Given the description of an element on the screen output the (x, y) to click on. 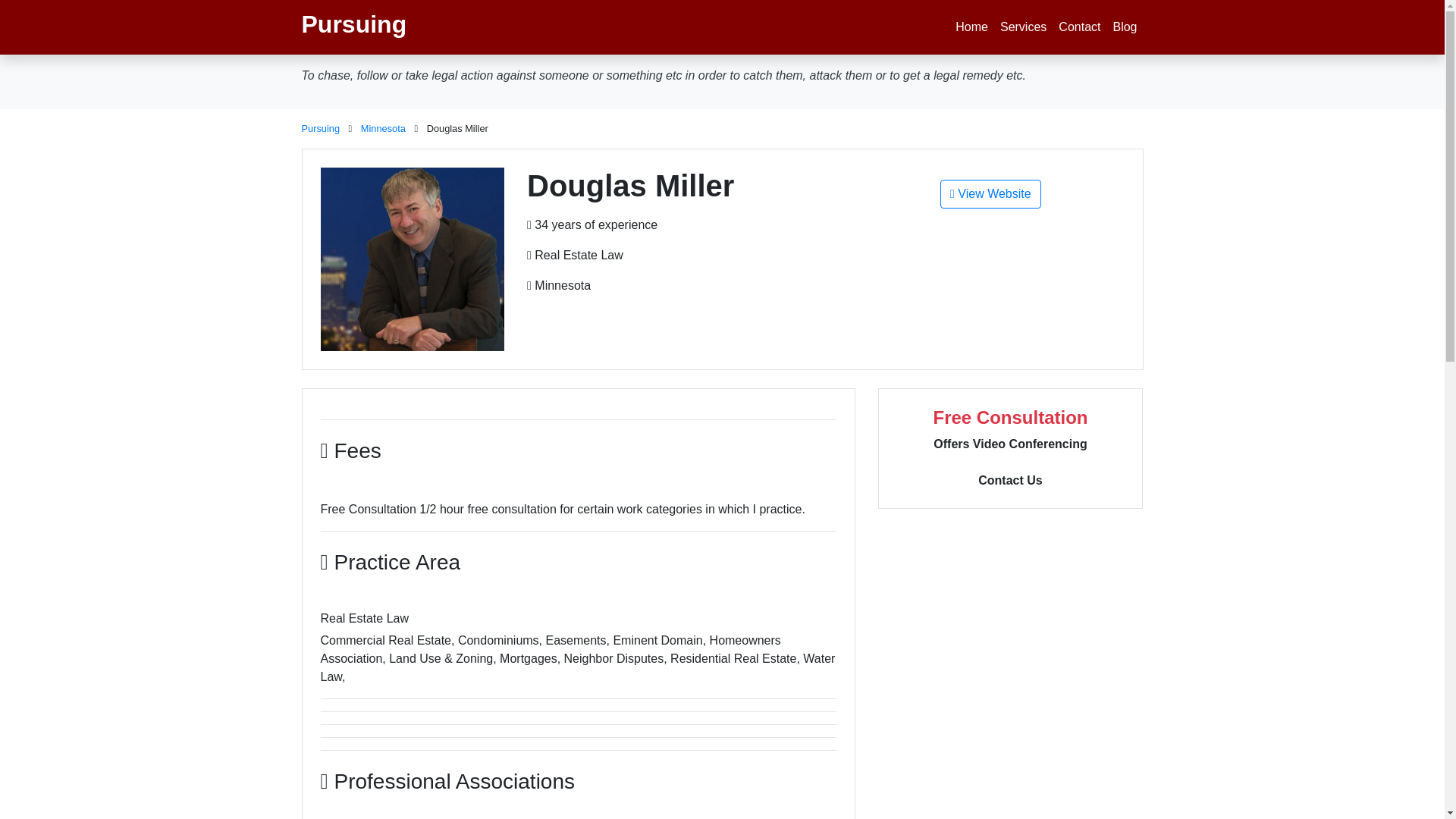
Contact (1079, 27)
View Website (990, 193)
Pursuing (354, 26)
Minnesota (383, 128)
Home (971, 27)
Blog (1124, 27)
Pursuing (320, 128)
Services (1023, 27)
